Given the description of an element on the screen output the (x, y) to click on. 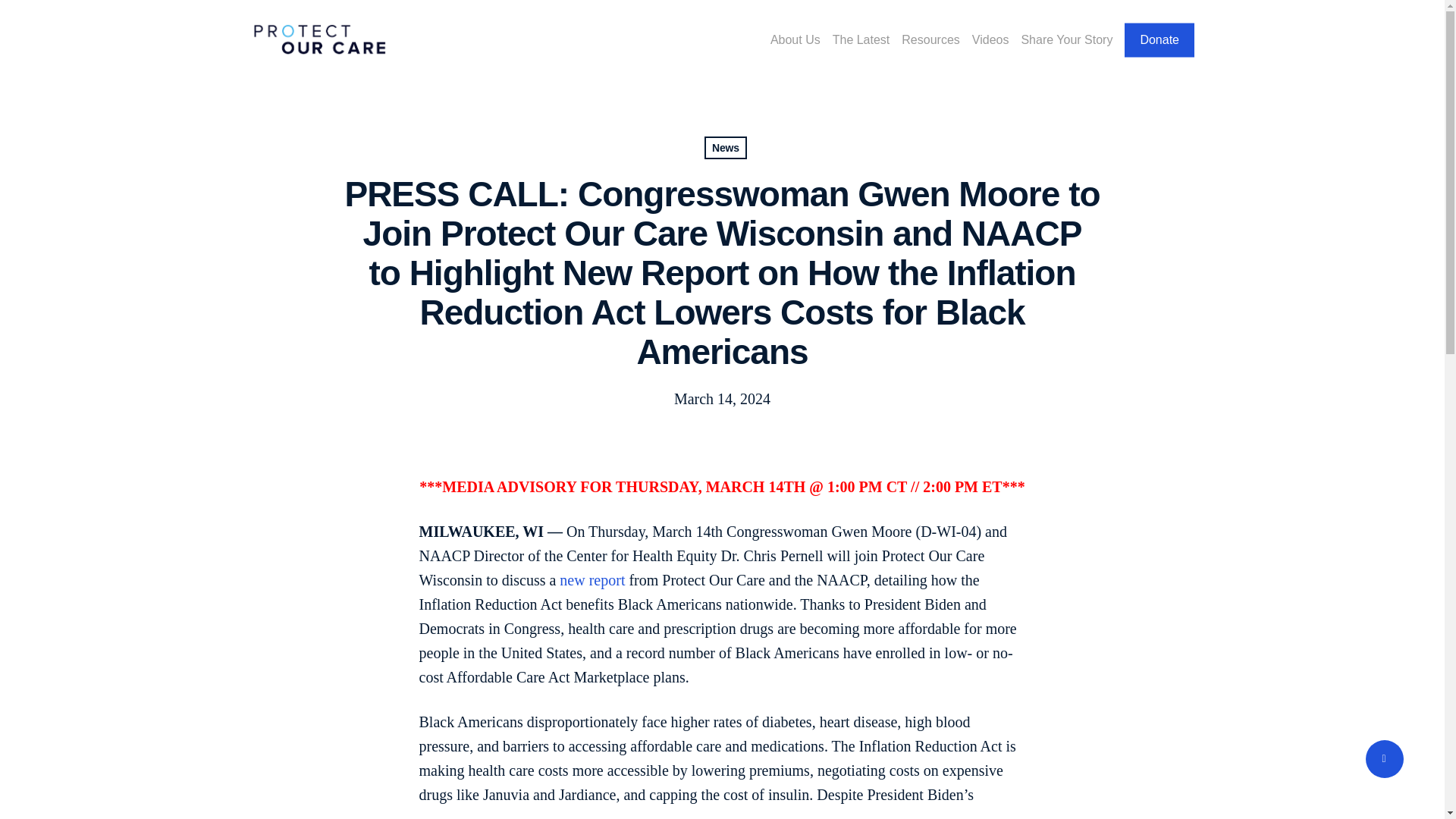
Videos (990, 39)
new report (591, 579)
News (725, 147)
The Latest (860, 39)
About Us (795, 39)
Donate (1158, 39)
Resources (930, 39)
Share Your Story (1066, 39)
